Given the description of an element on the screen output the (x, y) to click on. 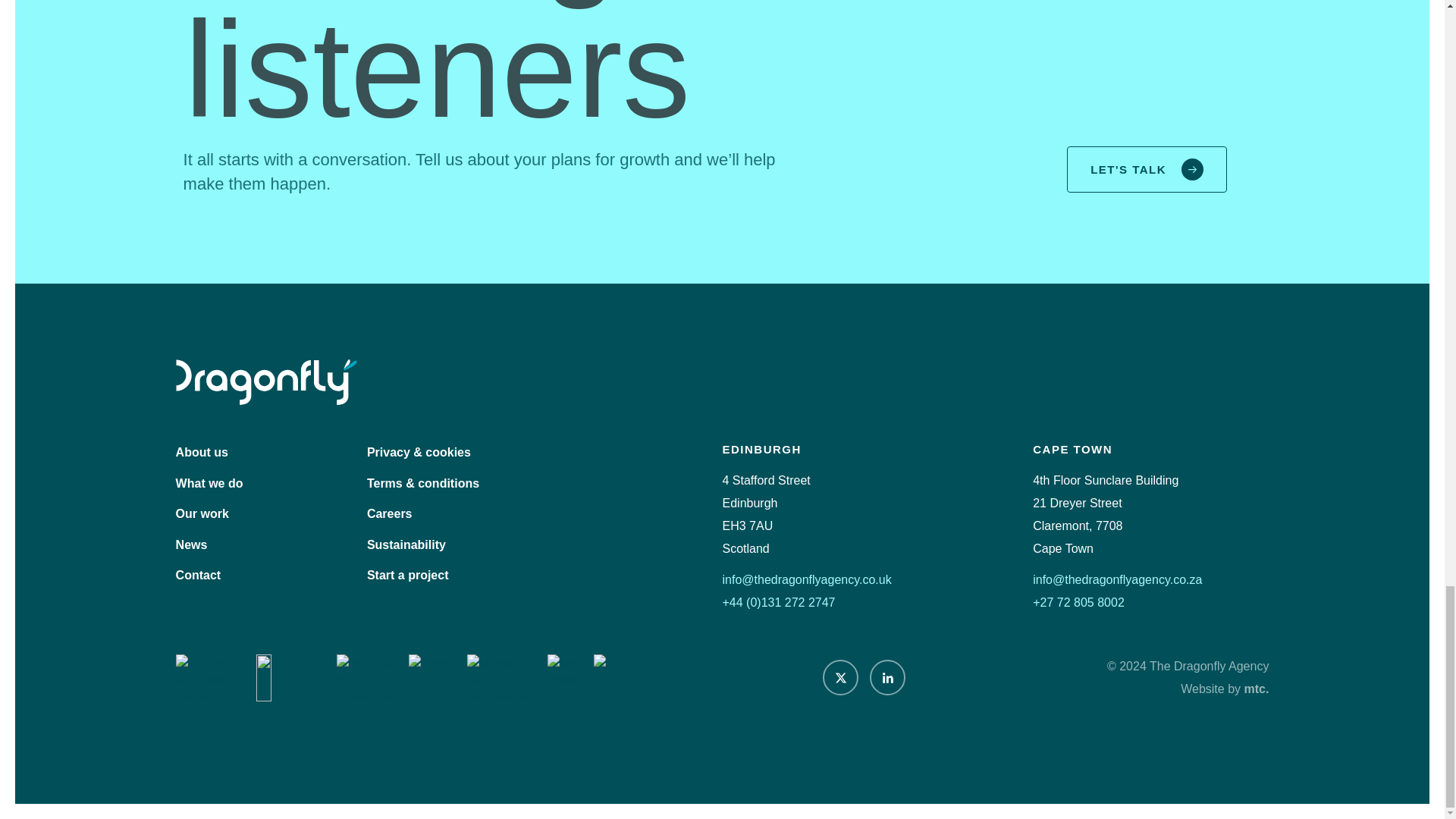
Start a project (407, 574)
Careers (389, 513)
mtc. (1255, 688)
The Dragonfly Agency (266, 381)
Opens in a new window (1255, 688)
Contact (198, 574)
Our work (202, 513)
What we do (209, 482)
LET'S TALK (1147, 169)
News (192, 544)
